Given the description of an element on the screen output the (x, y) to click on. 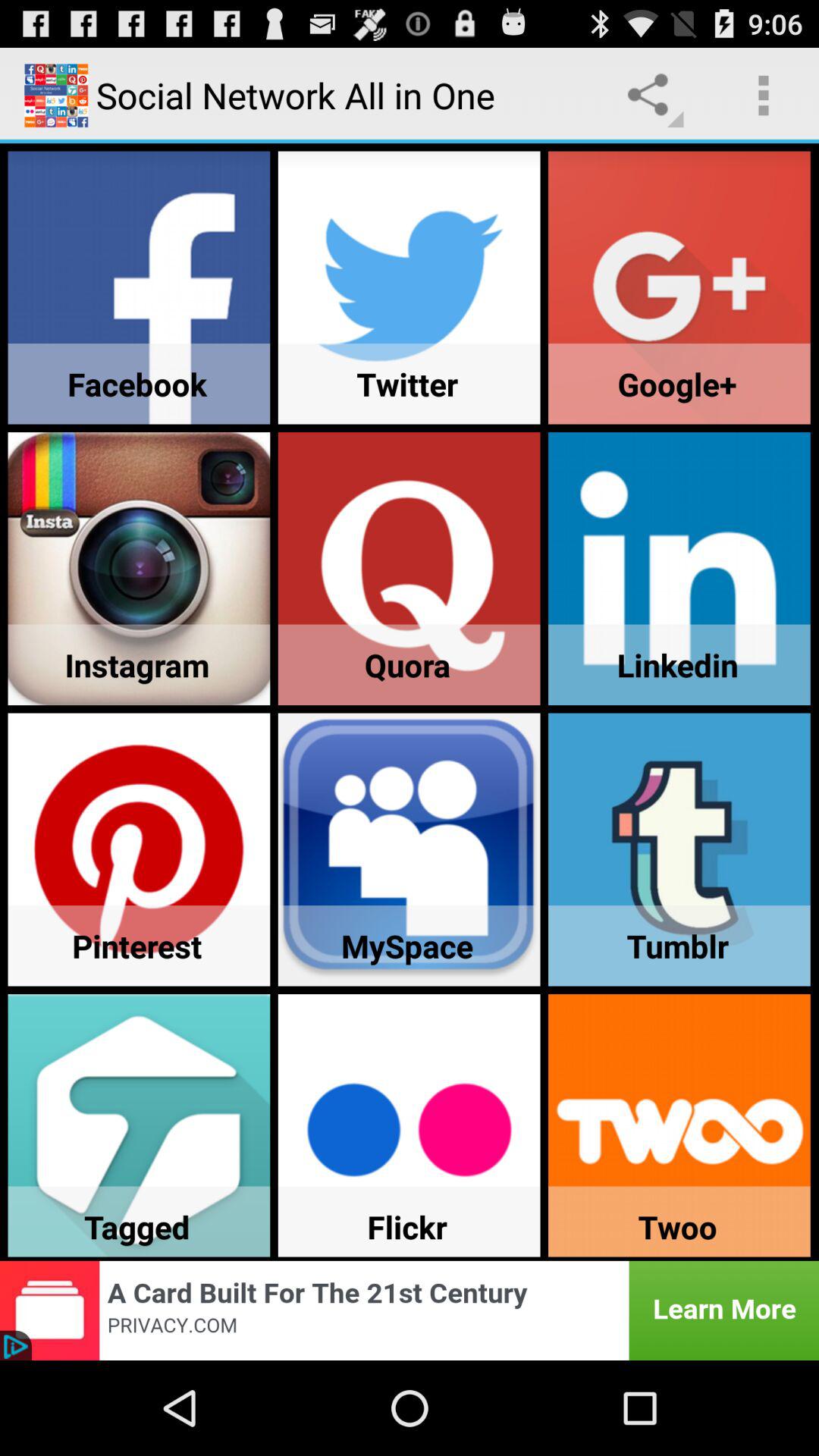
visit advertisement page (409, 1310)
